Given the description of an element on the screen output the (x, y) to click on. 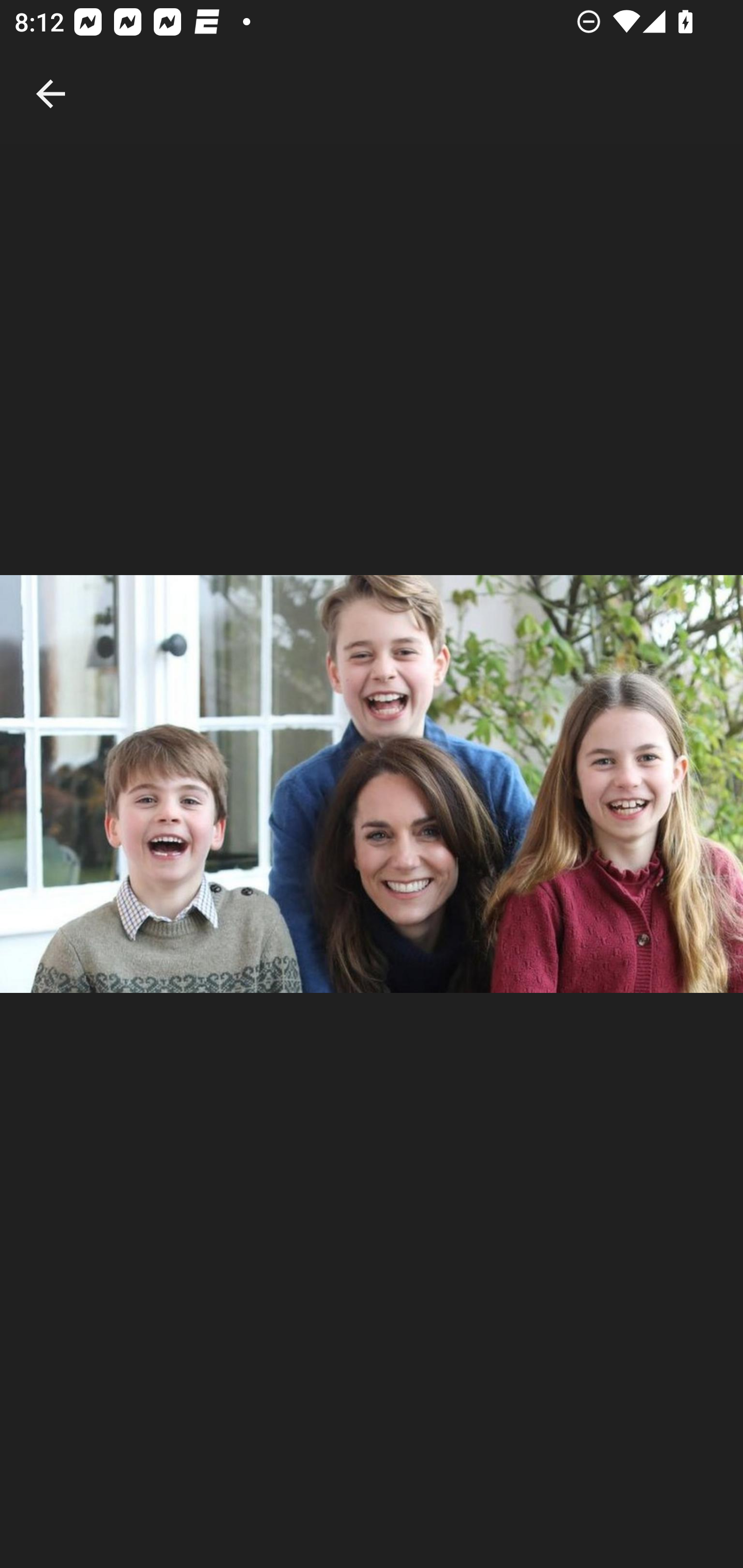
Back (50, 72)
